Given the description of an element on the screen output the (x, y) to click on. 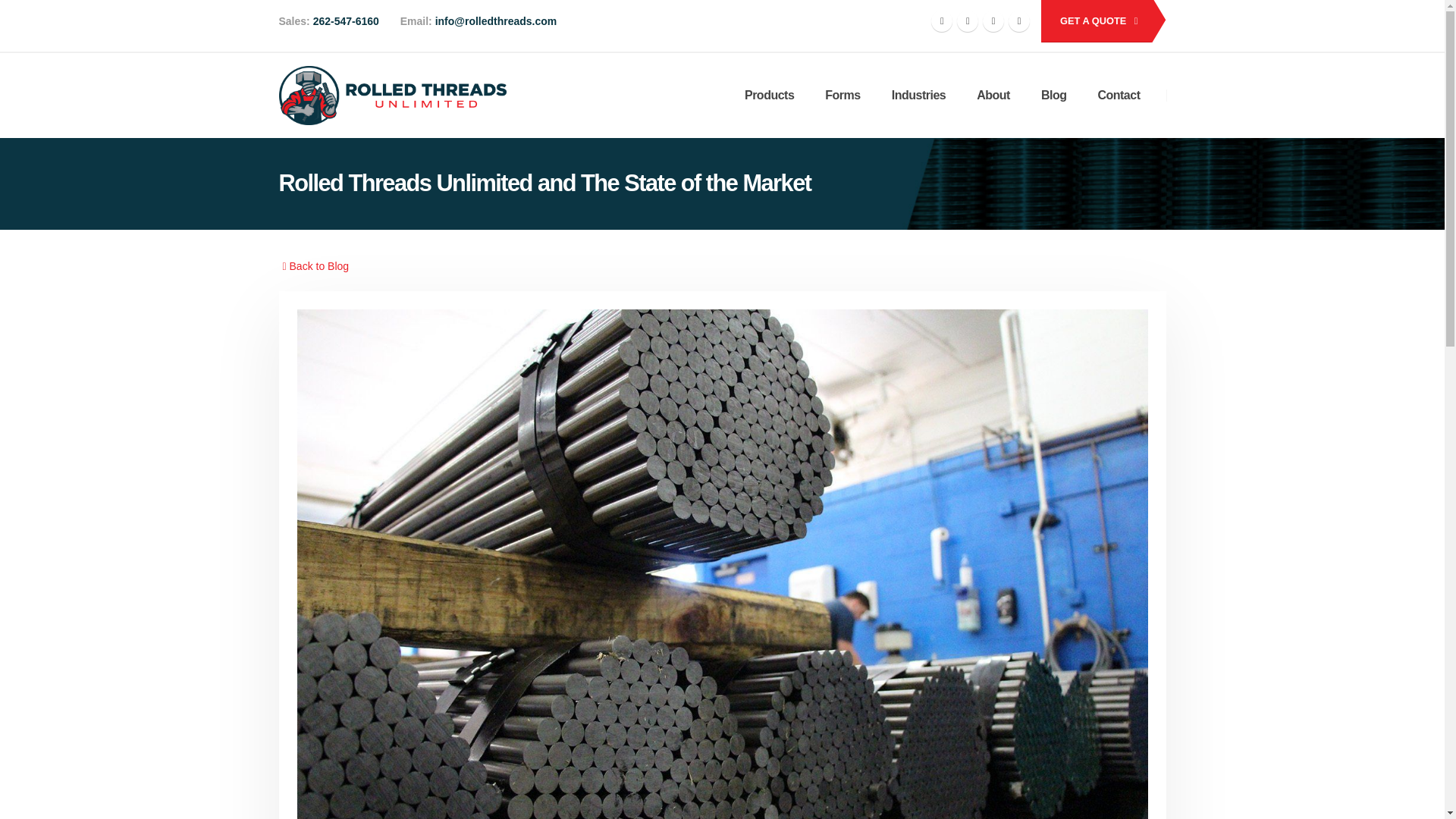
Facebook (941, 20)
Twitter (967, 20)
Blog (1053, 95)
GET A QUOTE (1095, 21)
Contact (1095, 21)
Industries (918, 95)
Products (769, 95)
Youtube (993, 20)
LinkedIn (1019, 20)
Contact (1117, 95)
Forms (842, 95)
262-547-6160 (344, 21)
About (992, 95)
